Given the description of an element on the screen output the (x, y) to click on. 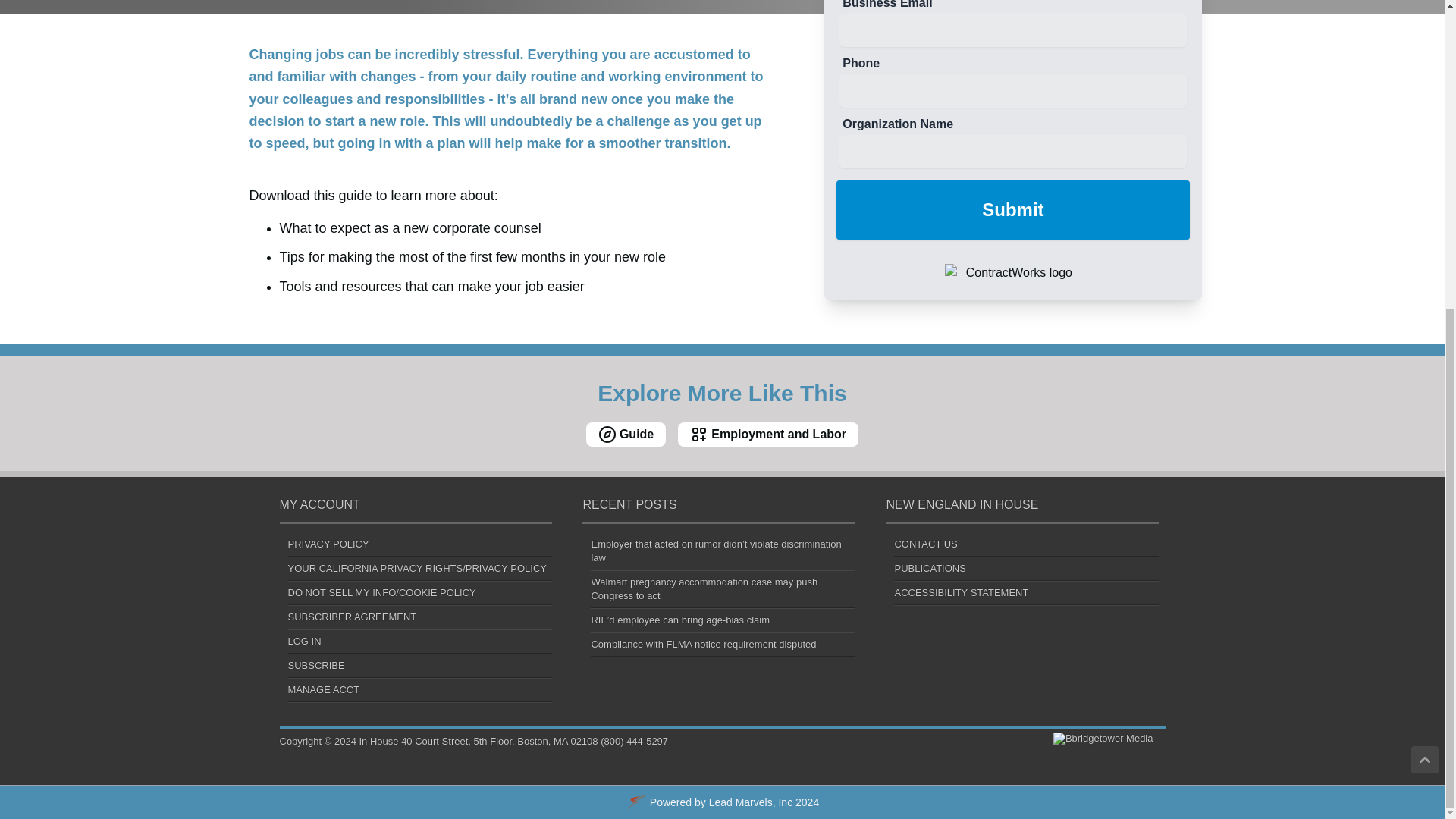
MANAGE ACCT (323, 689)
PUBLICATIONS (929, 568)
SUBSCRIBER AGREEMENT (352, 616)
Compliance with FLMA notice requirement disputed (703, 644)
Compliance with FLMA notice requirement disputed (703, 644)
ACCESSIBILITY STATEMENT (960, 592)
Submit (1012, 209)
Employment and Labor (767, 434)
LOG IN (304, 641)
